Given the description of an element on the screen output the (x, y) to click on. 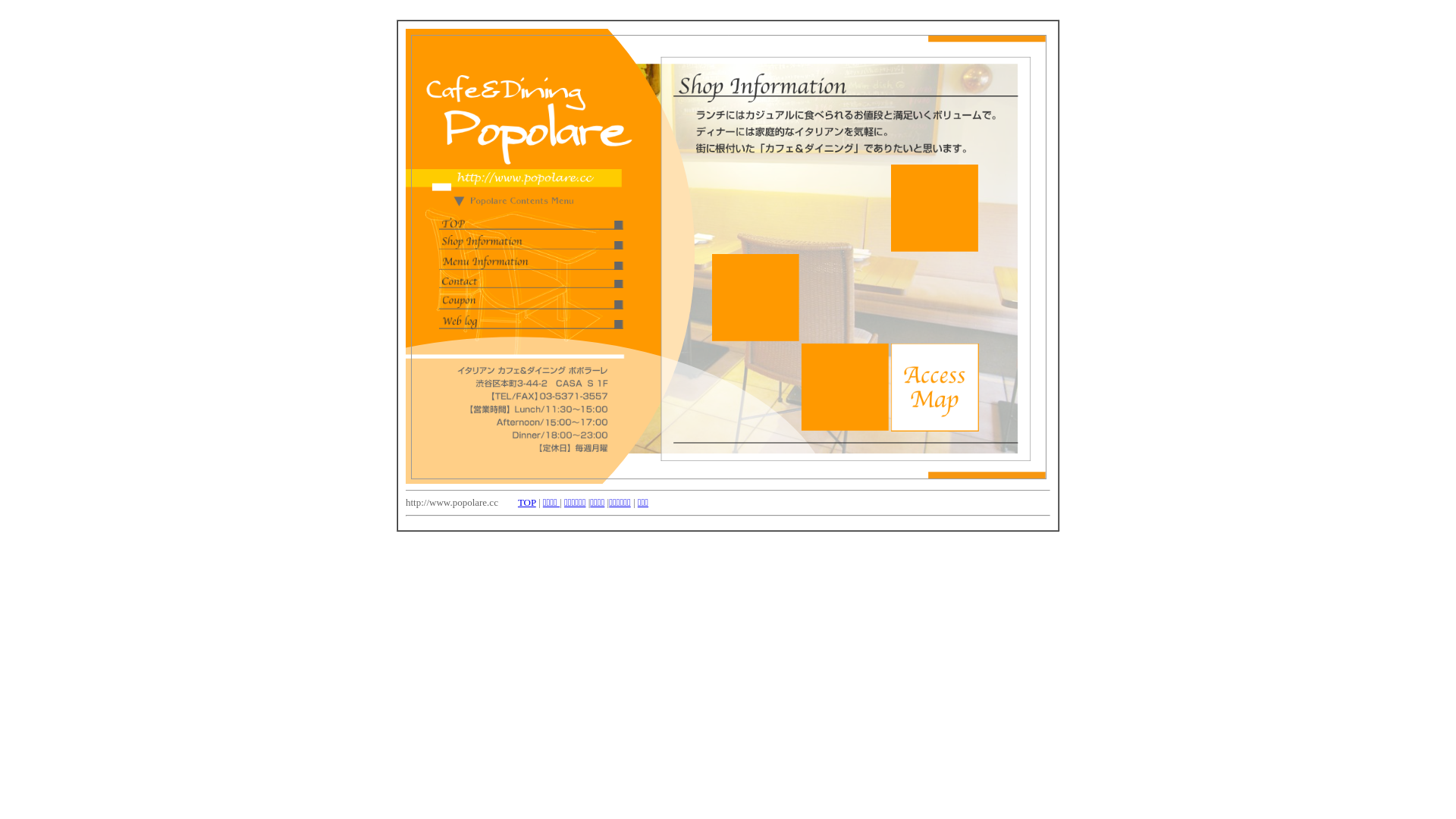
TOP Element type: text (526, 502)
